Given the description of an element on the screen output the (x, y) to click on. 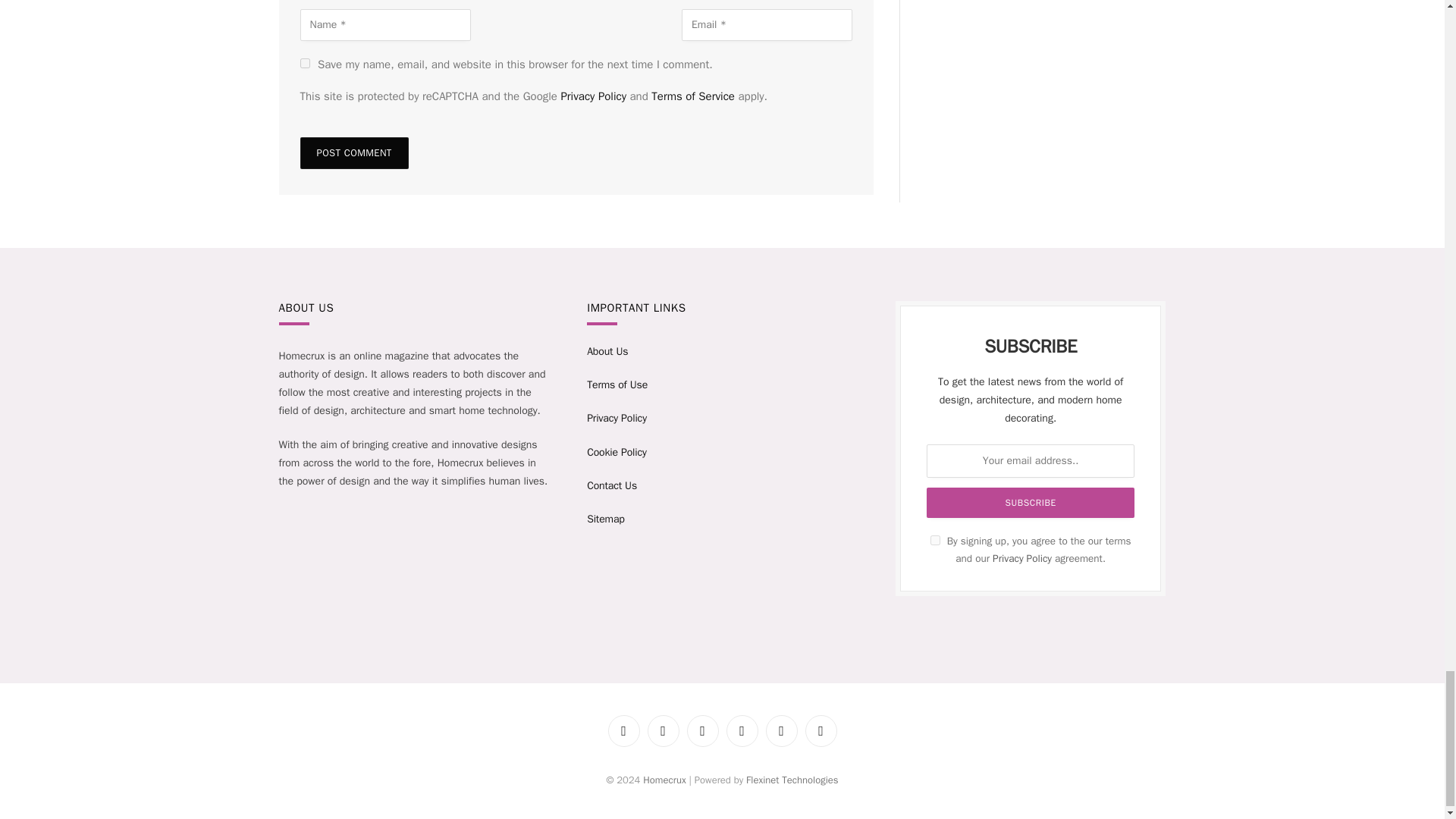
yes (304, 62)
SUBSCRIBE (1030, 502)
Post Comment (354, 152)
on (935, 540)
